Given the description of an element on the screen output the (x, y) to click on. 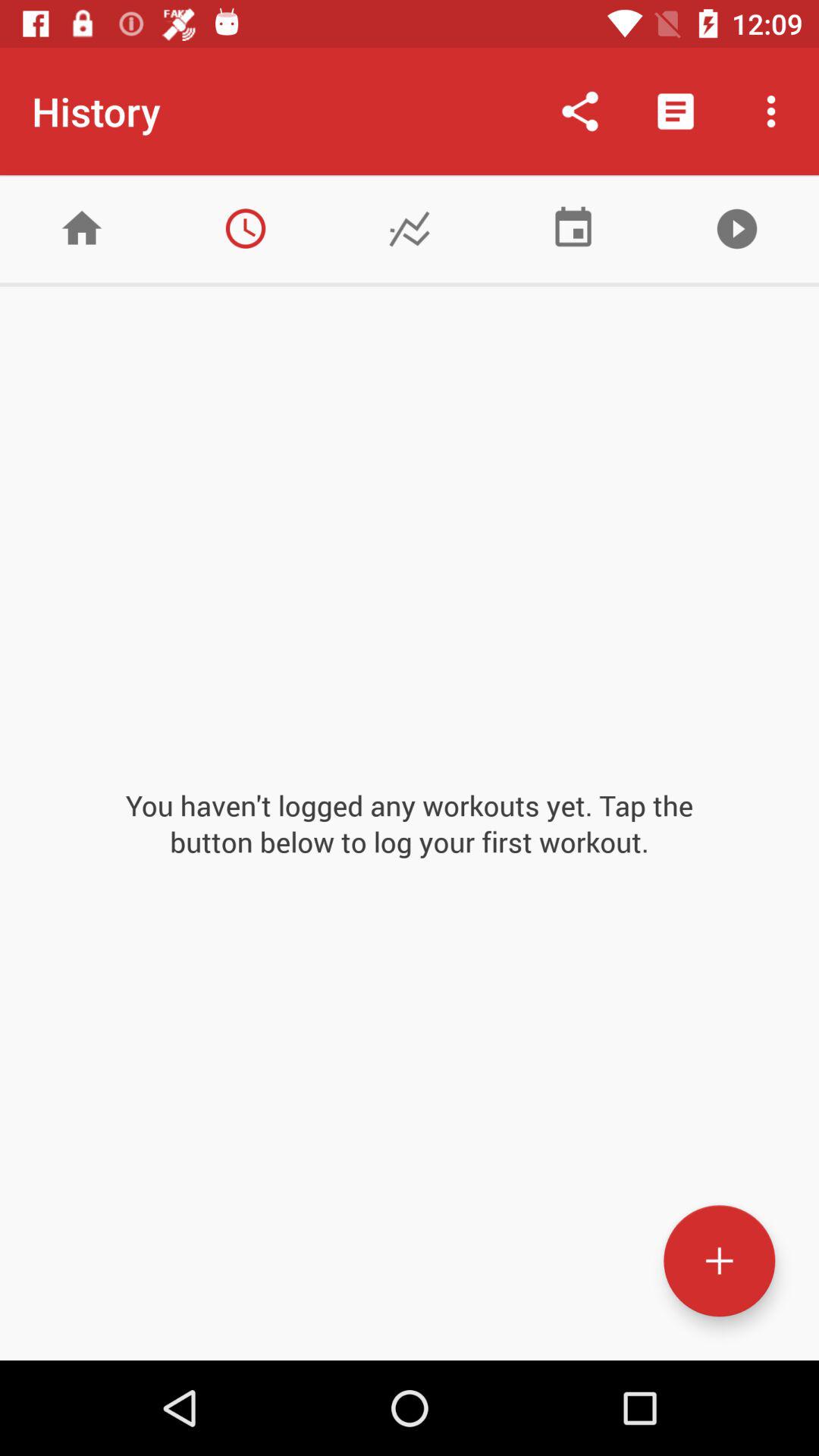
history tab (245, 228)
